Given the description of an element on the screen output the (x, y) to click on. 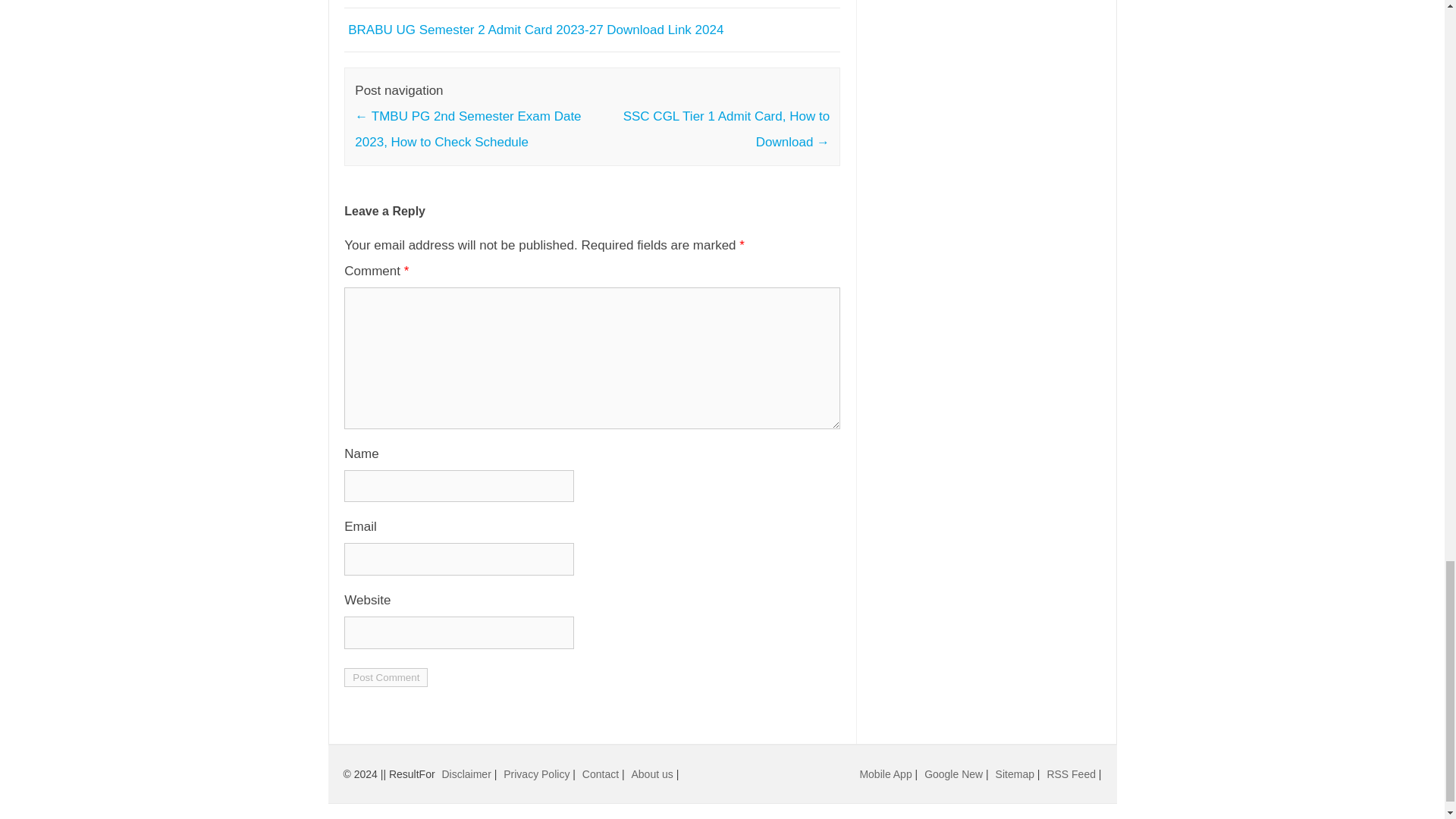
Post Comment (385, 677)
BRABU UG Semester 2 Admit Card 2023-27 Download Link 2024 (535, 29)
Post Comment (385, 677)
BRABU UG Semester 2 Admit Card 2023-27 Download Link 2024 (535, 29)
